Given the description of an element on the screen output the (x, y) to click on. 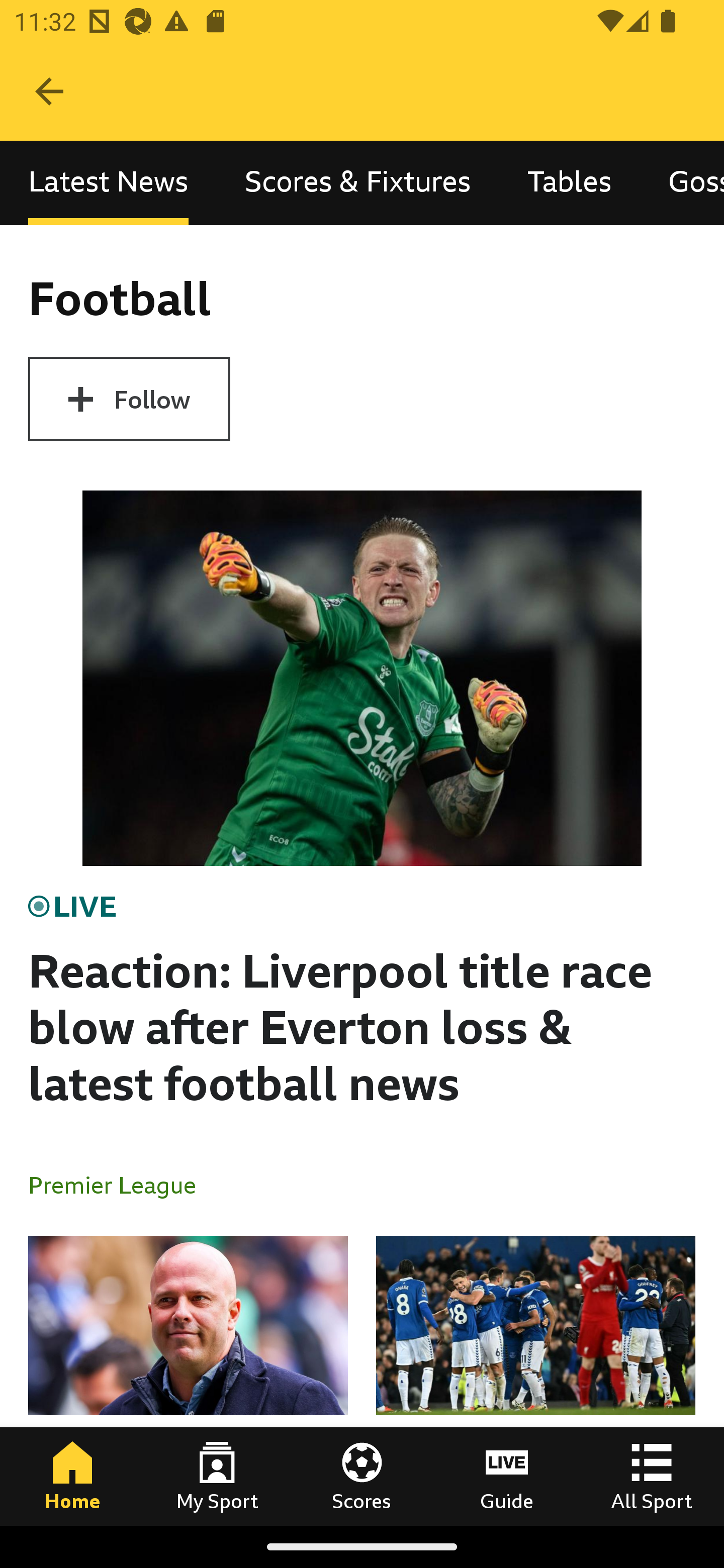
Navigate up (49, 91)
Latest News, selected Latest News (108, 183)
Scores & Fixtures (357, 183)
Tables (569, 183)
Follow Football Follow (129, 398)
Premier League In the section Premier League (119, 1184)
Slot philosophy could suit Liverpool - Van Dijk (188, 1380)
My Sport (216, 1475)
Scores (361, 1475)
Guide (506, 1475)
All Sport (651, 1475)
